Given the description of an element on the screen output the (x, y) to click on. 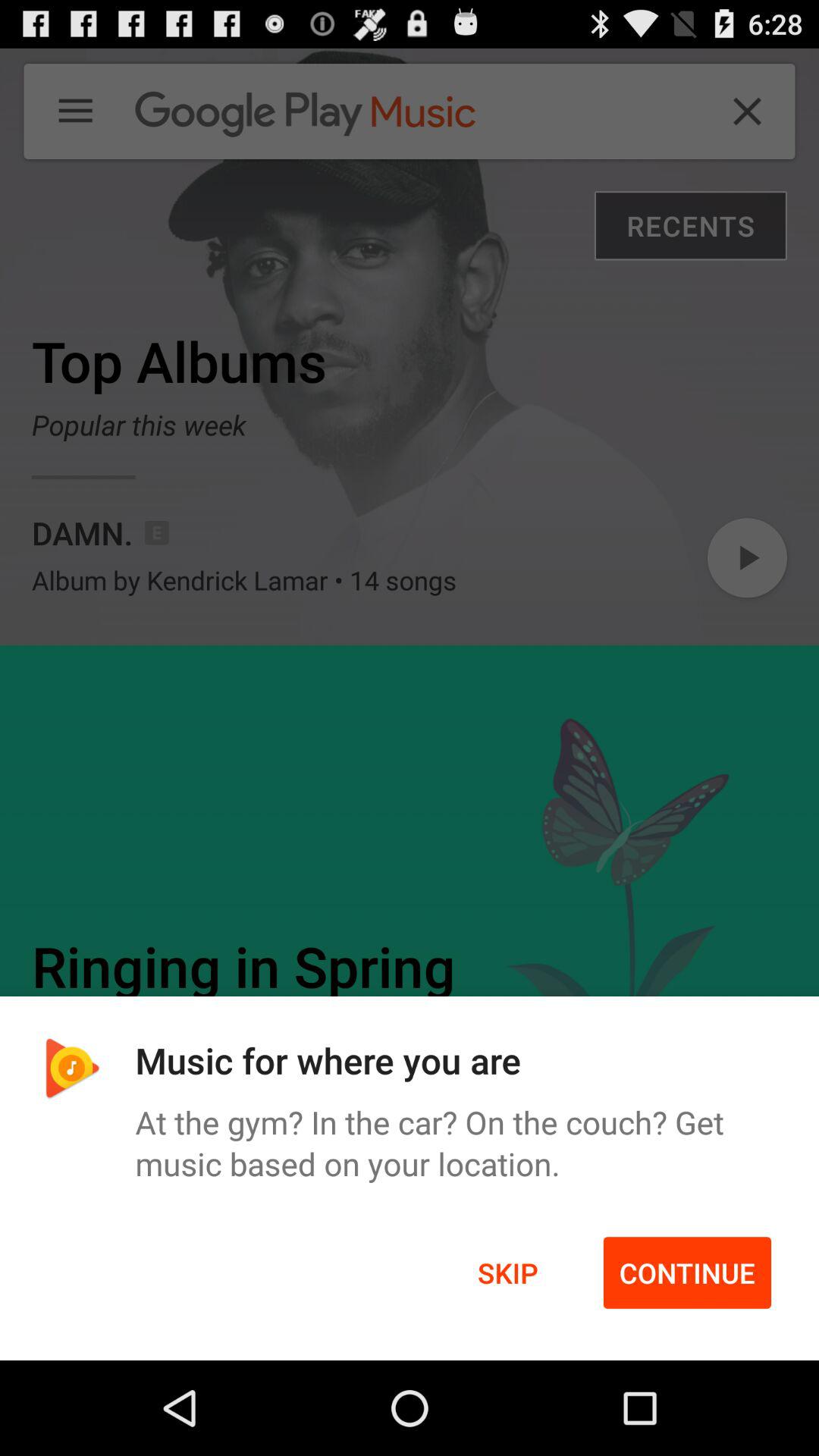
swipe until skip item (507, 1272)
